Given the description of an element on the screen output the (x, y) to click on. 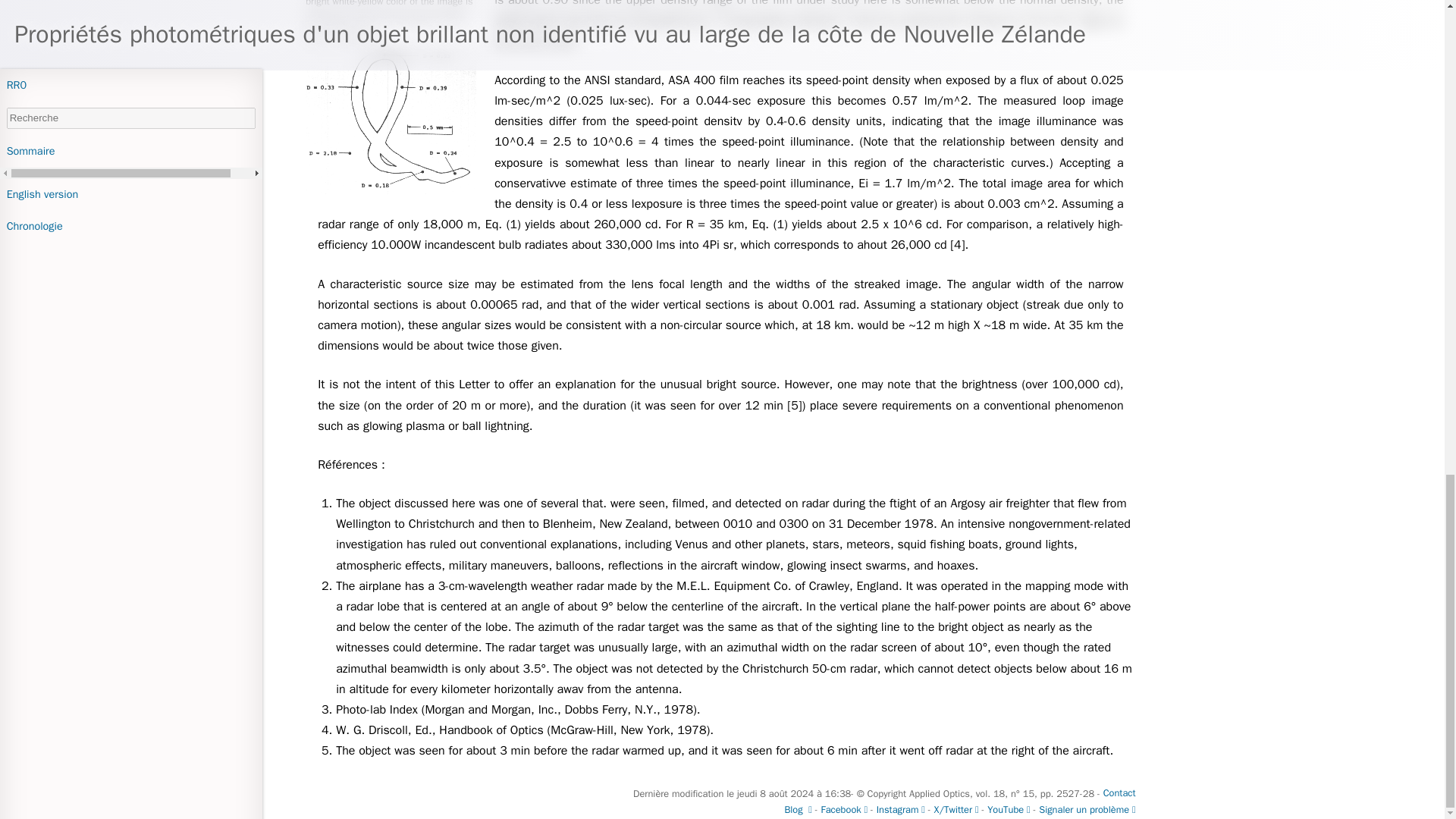
Contact (1119, 792)
Facebook (843, 809)
github.com (1086, 809)
YouTube (1008, 809)
twitter.com (956, 809)
Blog (797, 809)
Instagram (900, 809)
www.youtube.com (1008, 809)
rr0.medium.com (797, 809)
www.instagram.com (900, 809)
